Given the description of an element on the screen output the (x, y) to click on. 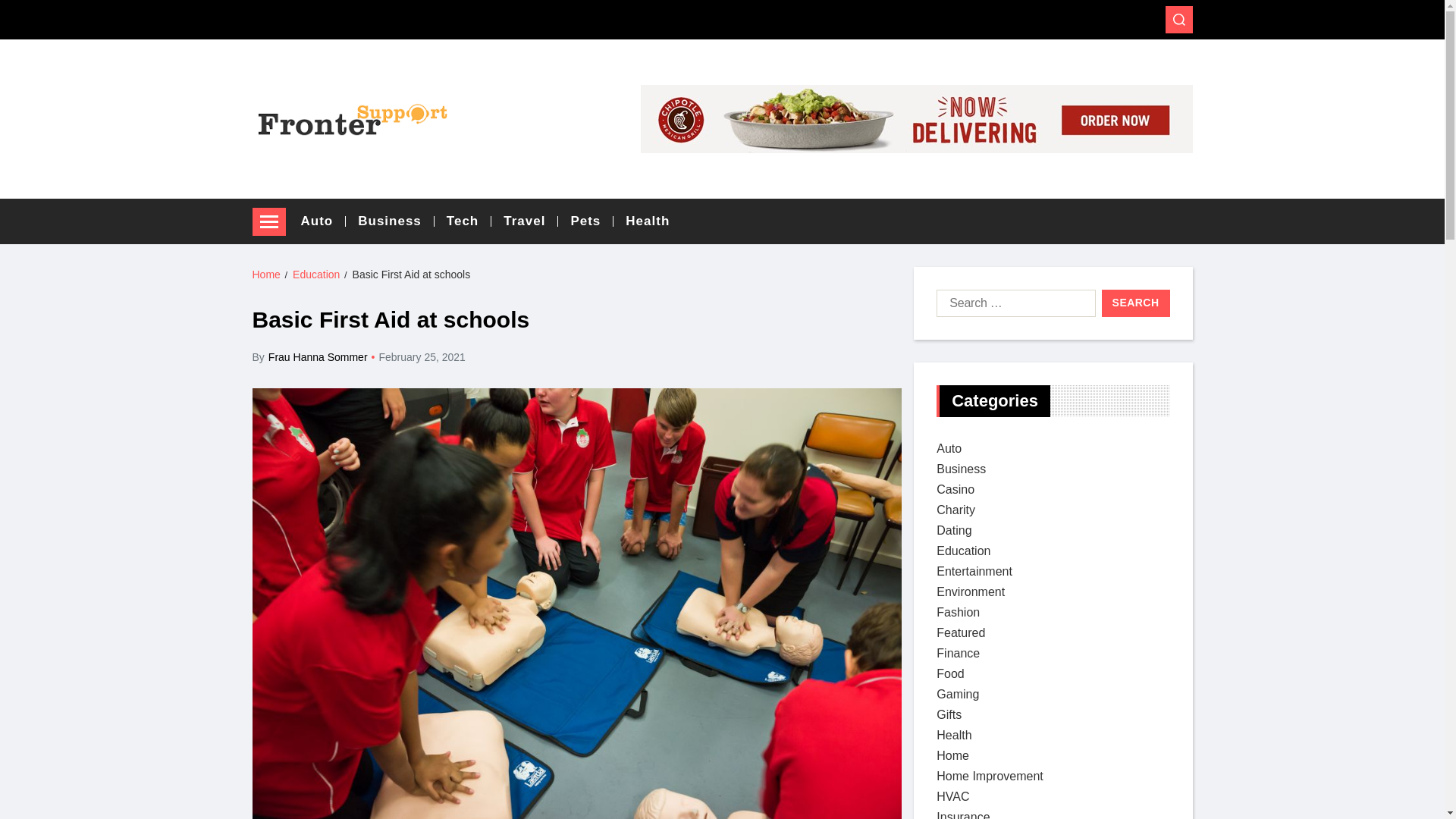
Auto (322, 221)
Charity (955, 509)
Fronter Support (320, 158)
Travel (530, 221)
Frau Hanna Sommer (317, 357)
Home (265, 274)
Search (1136, 302)
Search (1136, 302)
Business (960, 468)
Business (395, 221)
